Given the description of an element on the screen output the (x, y) to click on. 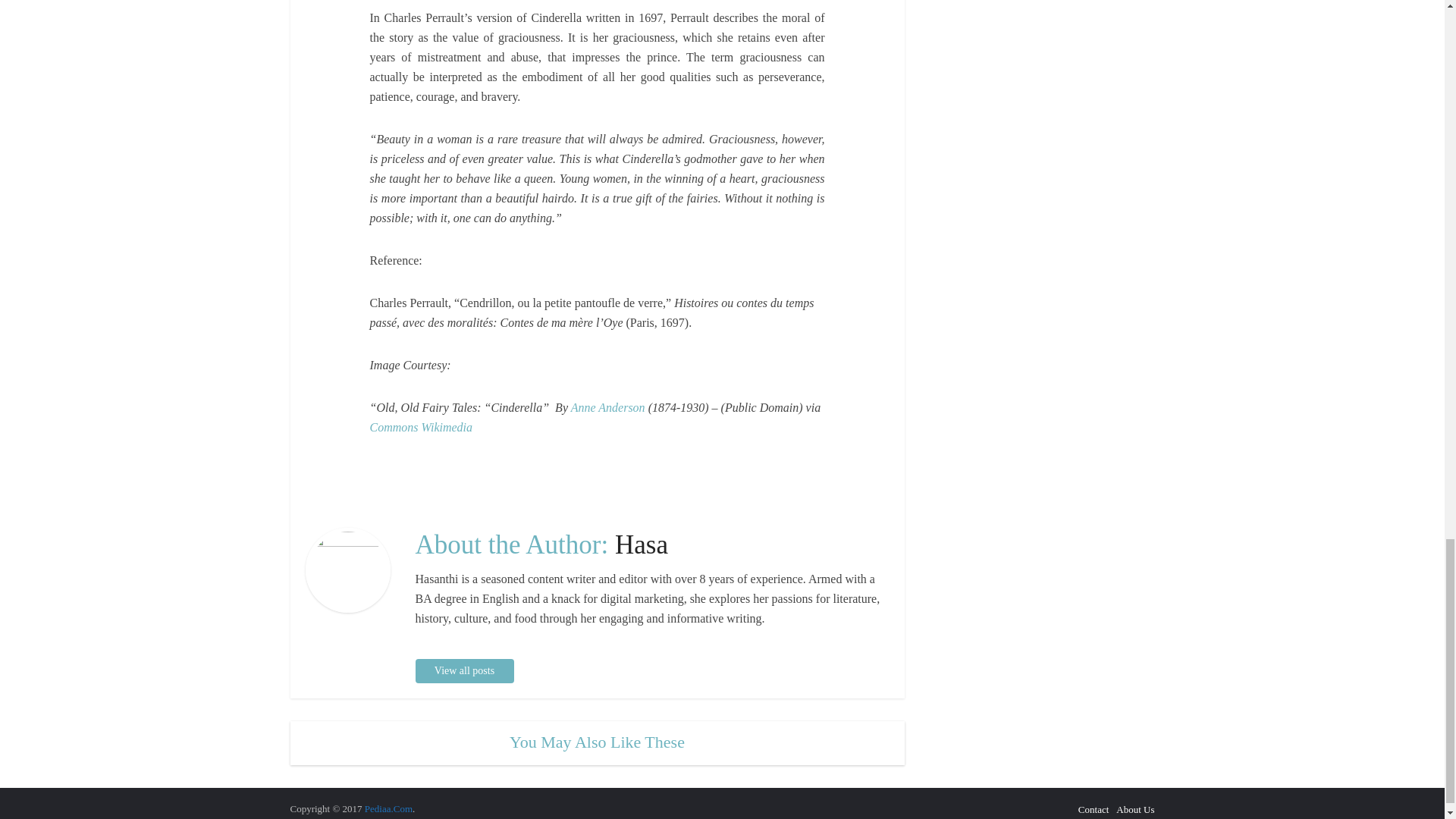
Commons Wikimedia  (422, 427)
Anne Anderson (607, 407)
View all posts (463, 671)
Know about Anything (388, 808)
